Given the description of an element on the screen output the (x, y) to click on. 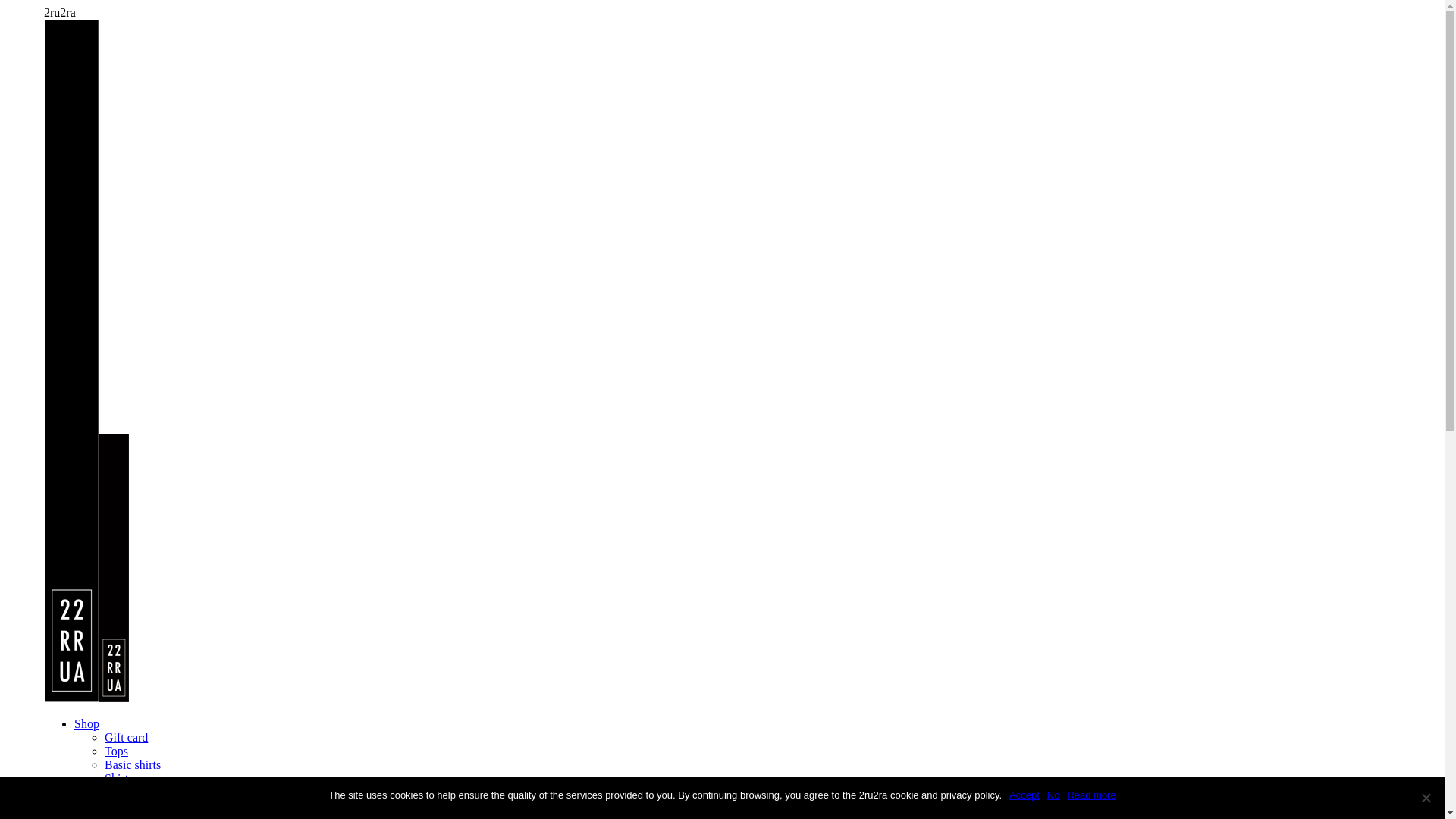
No Element type: text (1053, 795)
Tops Element type: text (116, 750)
No Element type: hover (1425, 797)
Skip to content Element type: text (5, 5)
Accept Element type: text (1024, 795)
Gift card Element type: text (125, 737)
Shop Element type: text (86, 723)
Read more Element type: text (1090, 795)
Shirts Element type: text (118, 777)
Dresses Element type: text (123, 791)
Basic shirts Element type: text (132, 764)
Sweatshirts Element type: text (132, 805)
